Given the description of an element on the screen output the (x, y) to click on. 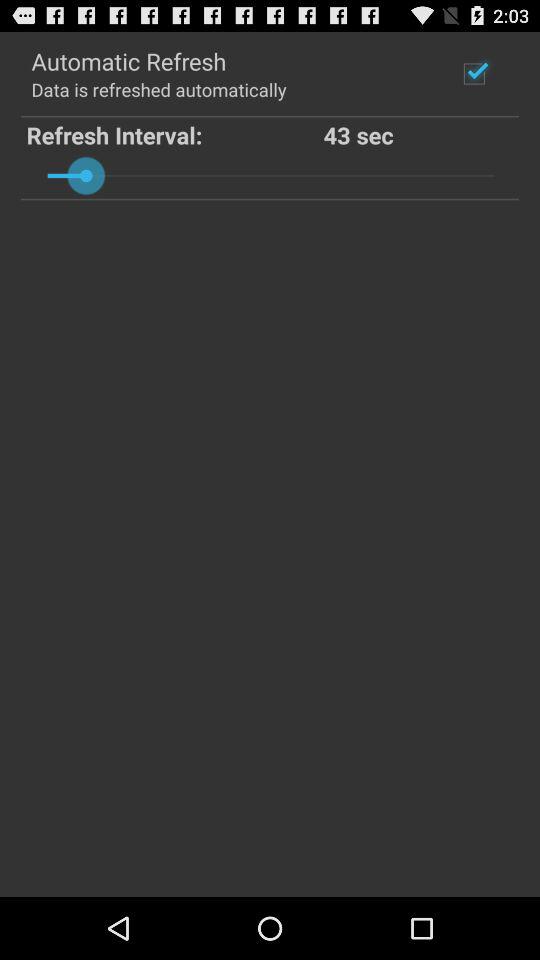
scroll until automatic refresh icon (128, 60)
